Given the description of an element on the screen output the (x, y) to click on. 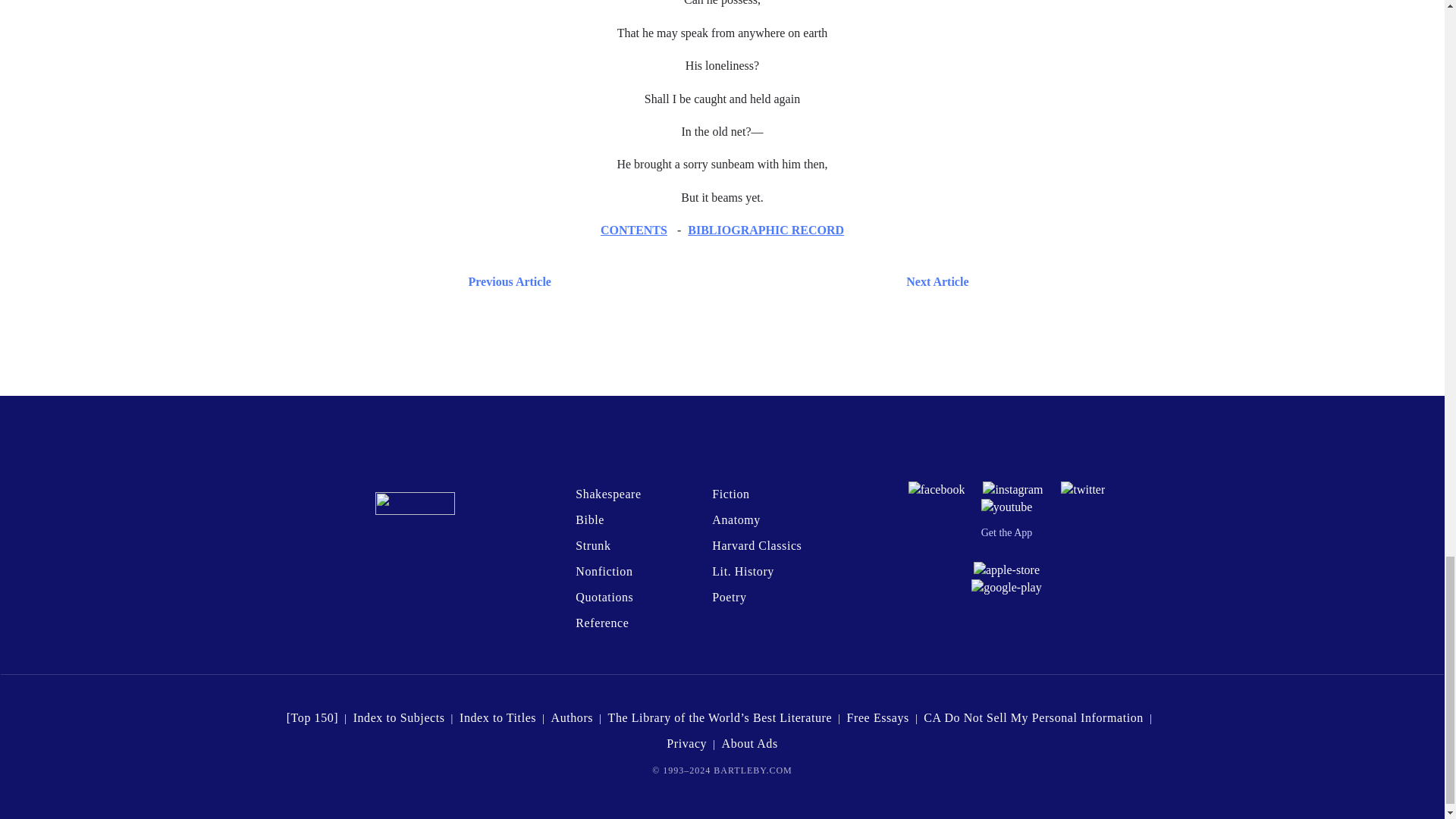
Poetry (728, 596)
Anatomy (735, 519)
Strunk (592, 545)
Previous Article (506, 281)
Fiction (730, 493)
Reference (601, 622)
Harvard Classics (756, 545)
Bible (589, 519)
CONTENTS (632, 229)
BIBLIOGRAPHIC RECORD (765, 229)
Quotations (604, 596)
Next Article (767, 281)
Lit. History (742, 571)
Shakespeare (607, 493)
Nonfiction (603, 571)
